Given the description of an element on the screen output the (x, y) to click on. 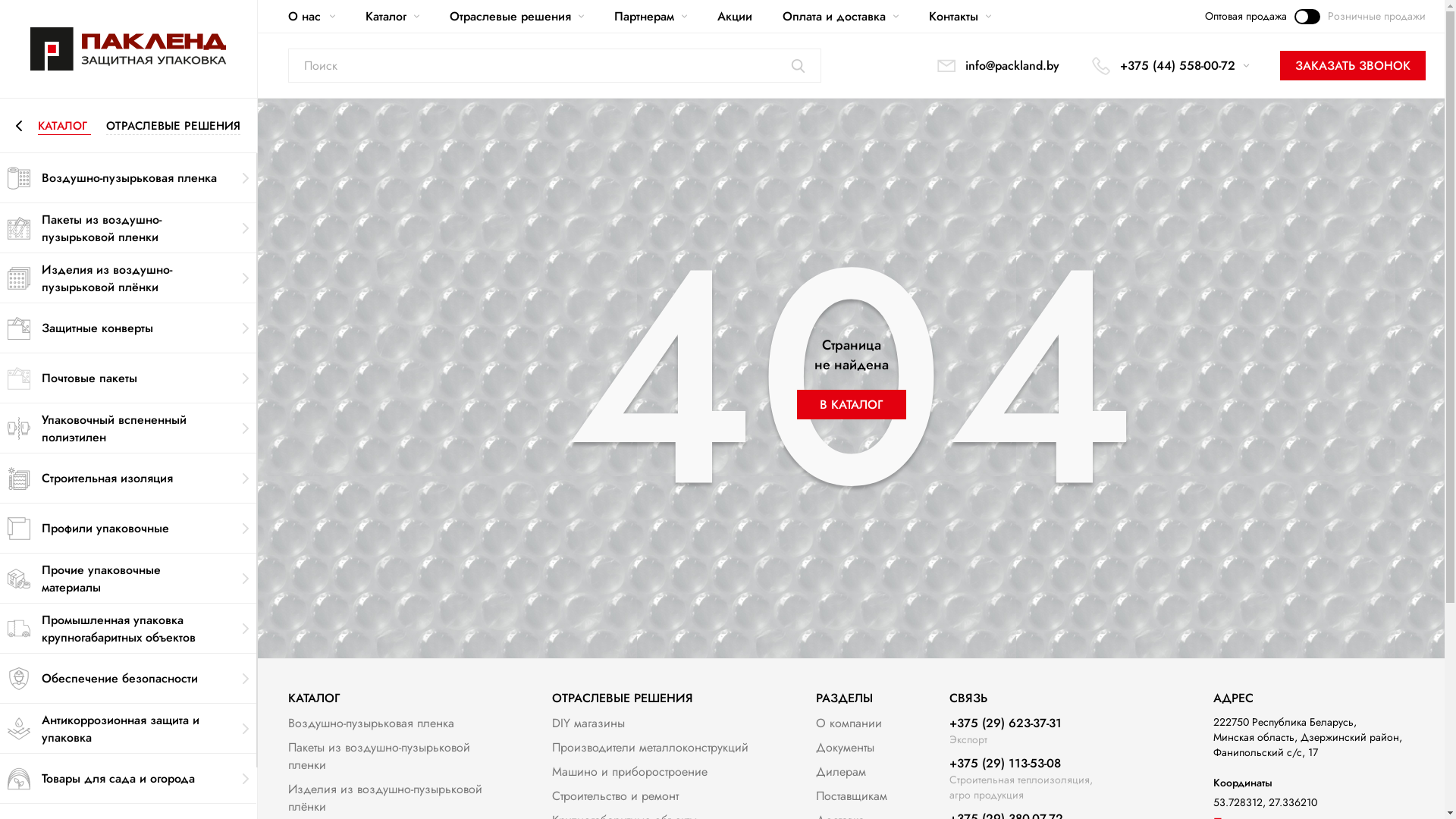
+375 (29) 113-53-08 Element type: text (1020, 762)
+375 (44) 558-00-72 Element type: text (1169, 65)
+375 (29) 623-37-31 Element type: text (1005, 722)
info@packland.by Element type: text (997, 65)
